Given the description of an element on the screen output the (x, y) to click on. 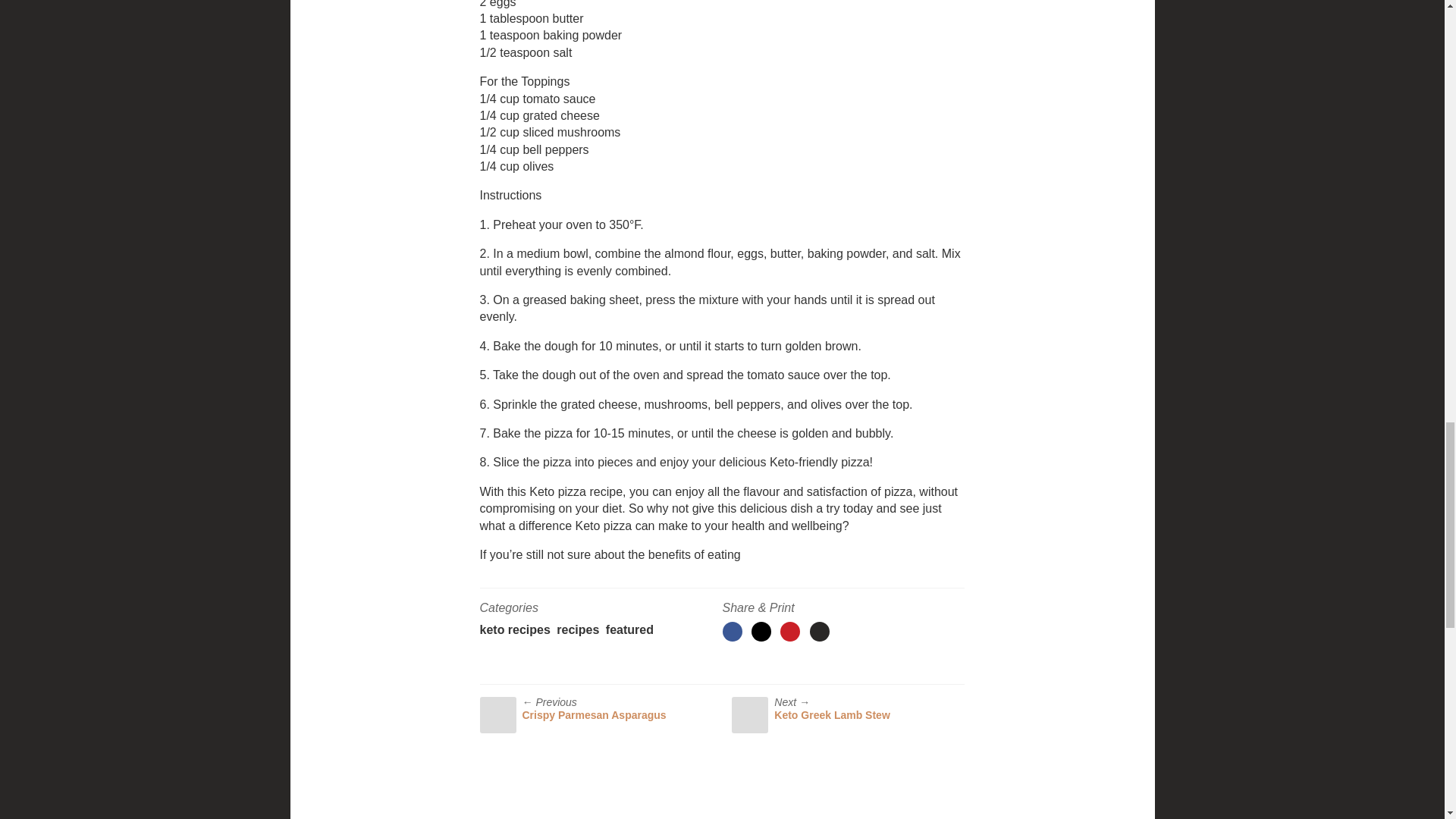
Pinterest (789, 631)
X (761, 631)
Keto Greek Lamb Stew (831, 715)
featured (629, 629)
recipes (577, 629)
Facebook (731, 631)
Crispy Parmesan Asparagus (593, 715)
Print (819, 631)
keto recipes (514, 629)
